Given the description of an element on the screen output the (x, y) to click on. 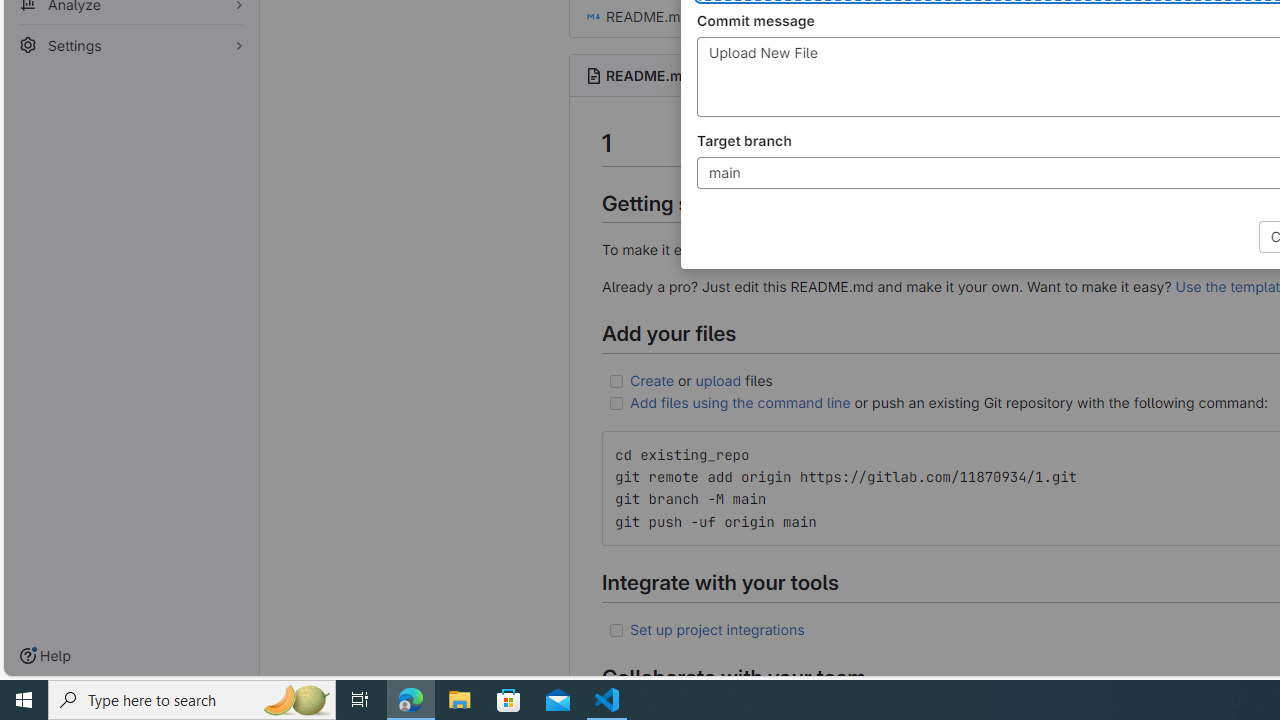
README.md (648, 75)
Class: s16 position-relative file-icon (593, 16)
Set up project integrations (717, 628)
Create (651, 379)
Add files using the command line (740, 402)
upload (718, 379)
Class: task-list-item-checkbox (616, 629)
Initial commit (937, 16)
